Given the description of an element on the screen output the (x, y) to click on. 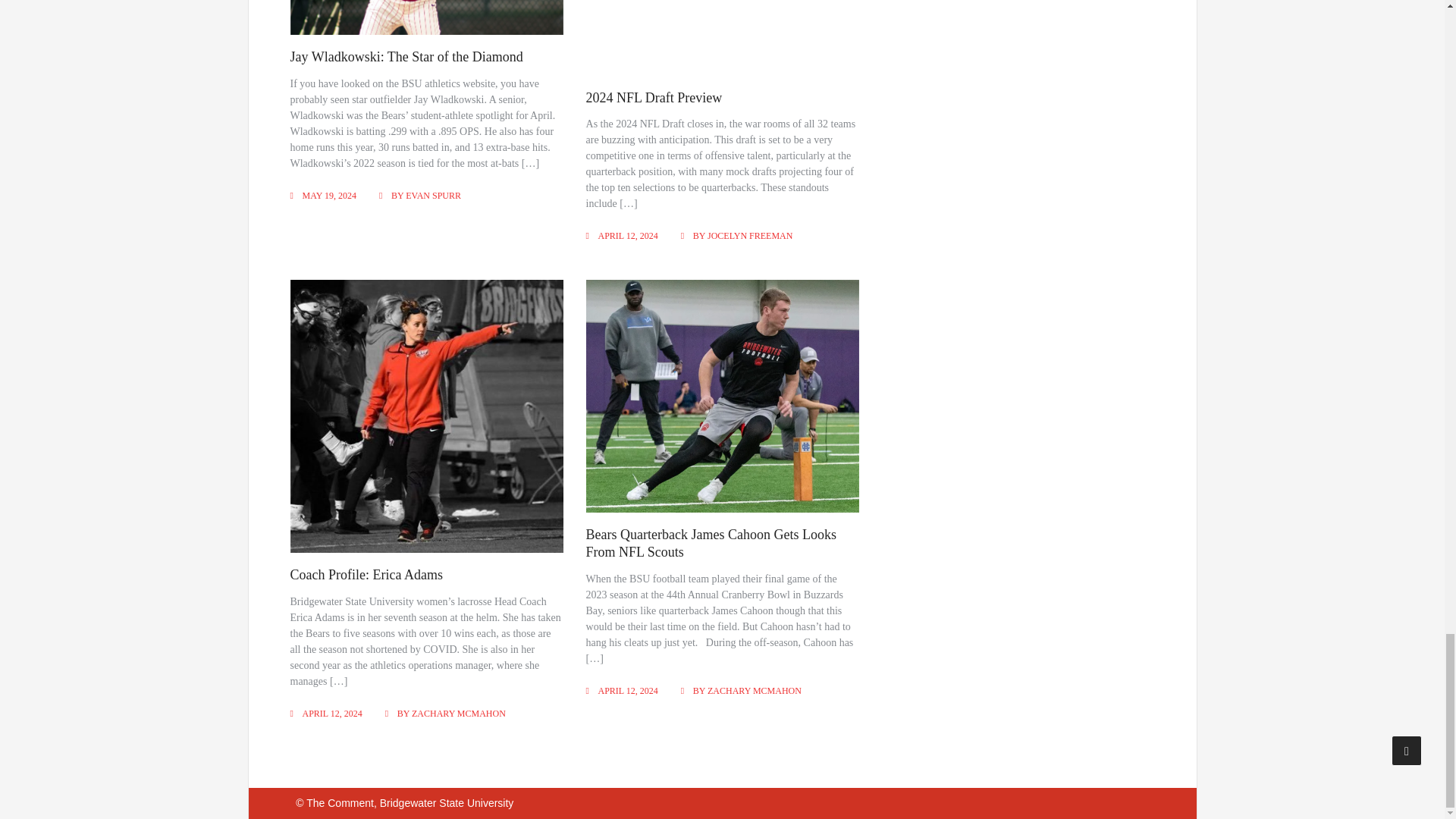
Jay Wladkowski: The Star of the Diamond (405, 56)
MAY 19, 2024 (328, 195)
2024 NFL Draft Preview (654, 97)
EVAN SPURR (433, 195)
